Given the description of an element on the screen output the (x, y) to click on. 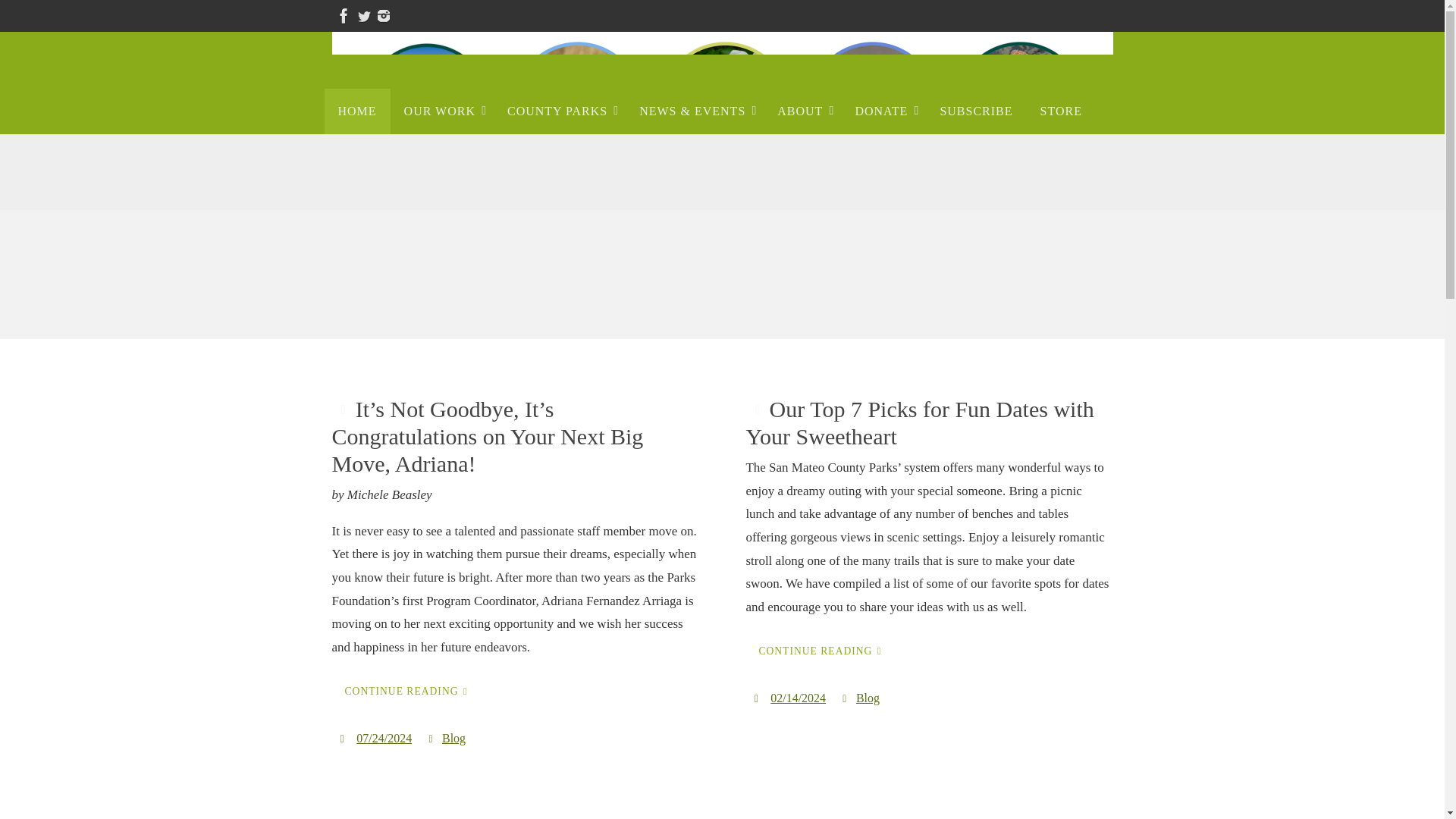
COUNTY PARKS (559, 111)
Date (757, 697)
Twitter (363, 15)
Image (757, 409)
OUR WORK (441, 111)
HOME (357, 111)
Instagram (383, 15)
Categories (432, 738)
Support Parks in San Mateo County (722, 107)
